Given the description of an element on the screen output the (x, y) to click on. 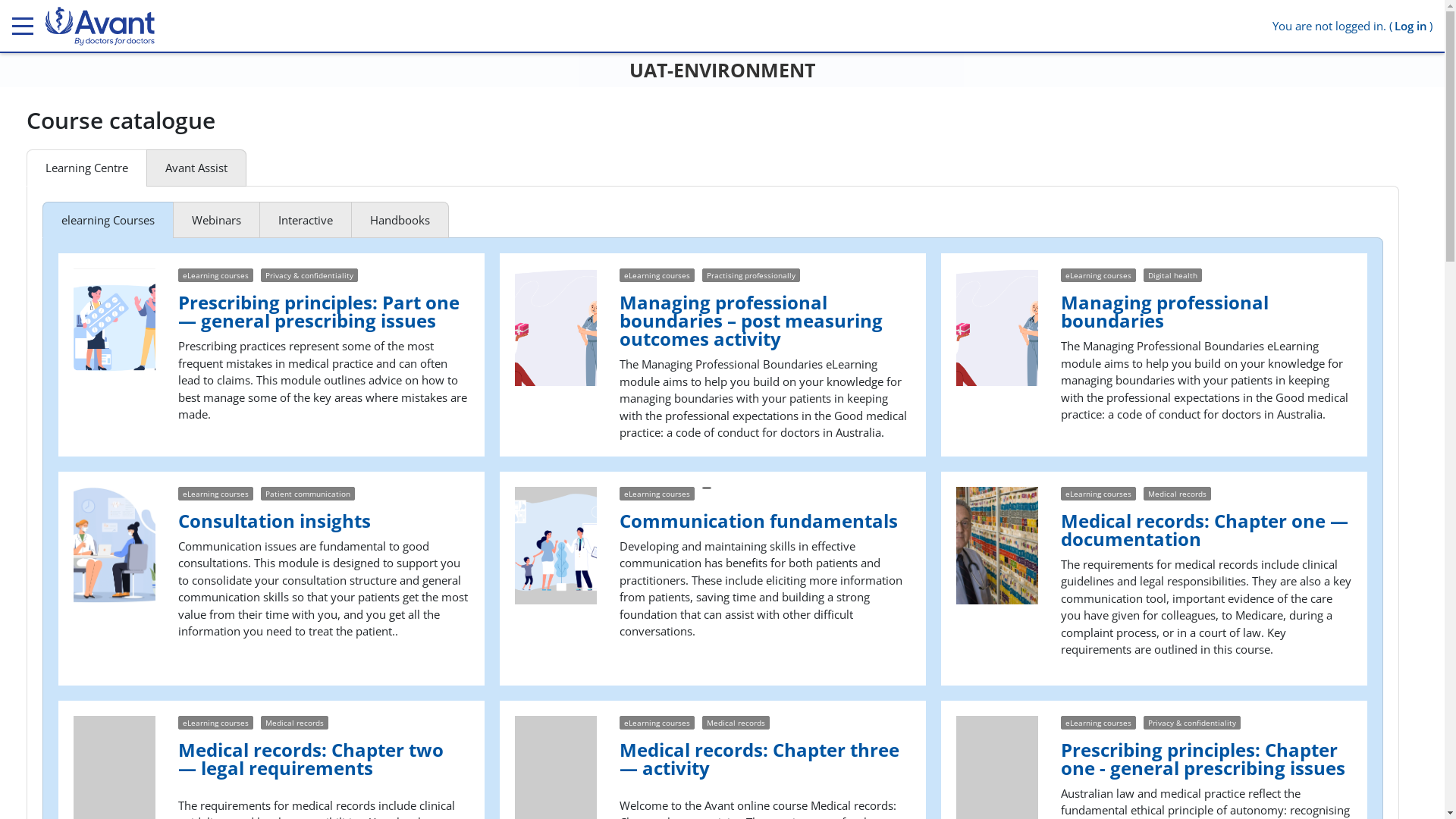
Communication fundamentals Element type: text (764, 519)
Consultation insights Element type: text (323, 519)
Log in Element type: text (1410, 25)
Managing professional boundaries Element type: text (1206, 311)
